Given the description of an element on the screen output the (x, y) to click on. 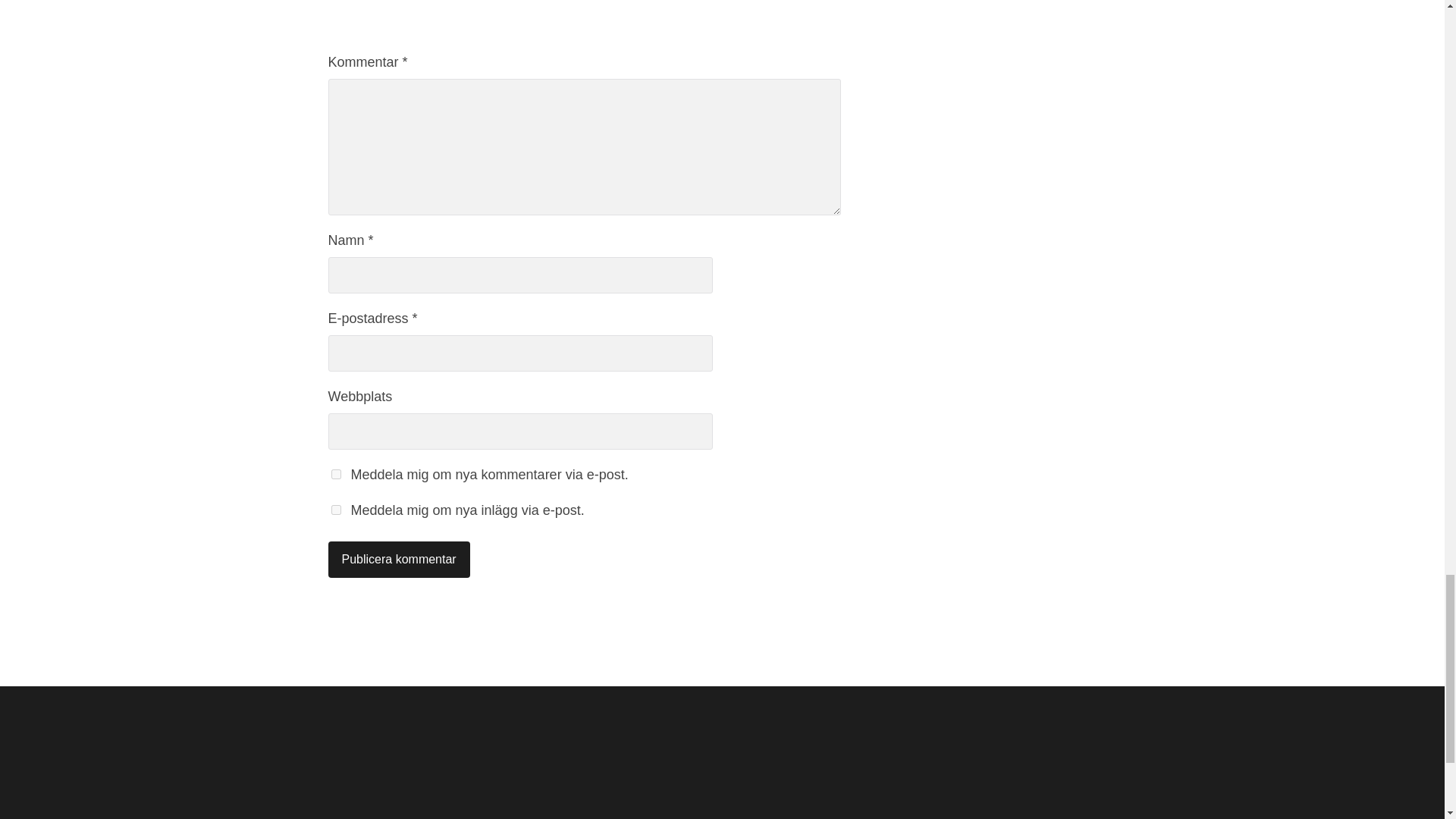
subscribe (335, 474)
Publicera kommentar (397, 559)
subscribe (335, 510)
